Given the description of an element on the screen output the (x, y) to click on. 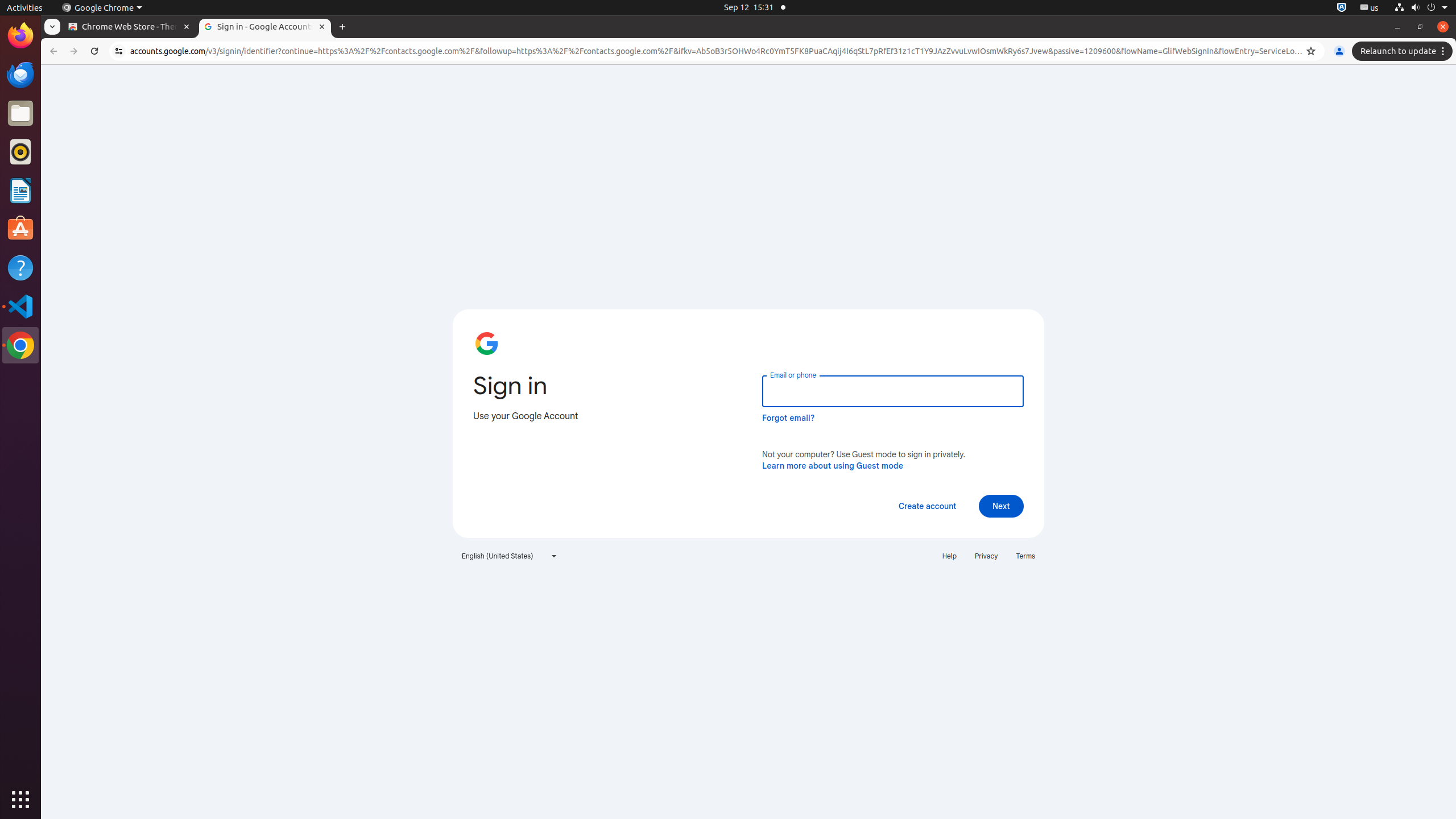
Next Element type: push-button (1000, 505)
Show Applications Element type: toggle-button (20, 799)
Bookmark this tab Element type: push-button (1310, 51)
Thunderbird Mail Element type: push-button (20, 74)
Visual Studio Code Element type: push-button (20, 306)
